Given the description of an element on the screen output the (x, y) to click on. 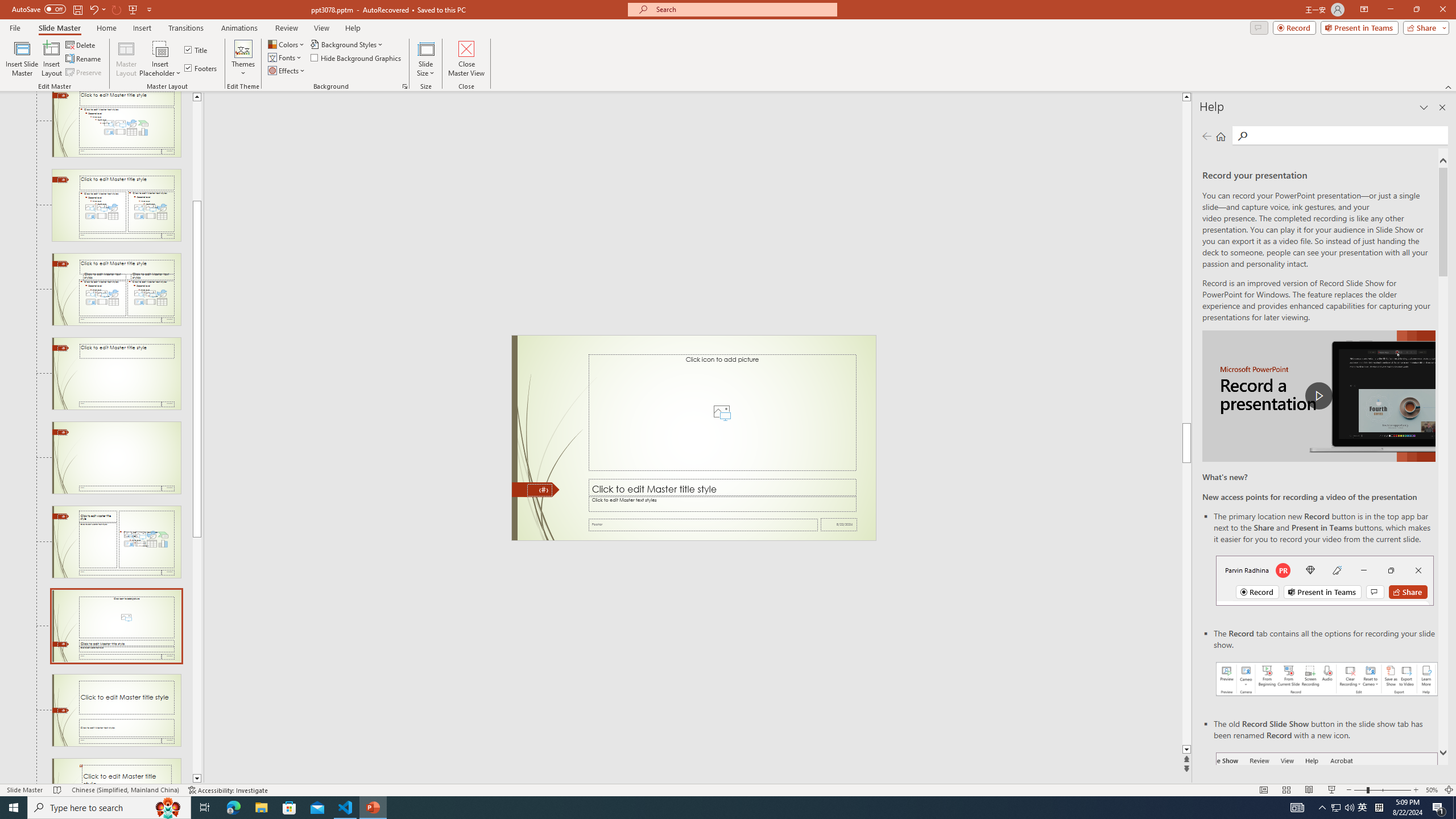
Slide Picture with Caption Layout: used by no slides (116, 625)
Slide Title Only Layout: used by no slides (116, 373)
Slide Quote with Caption Layout: used by no slides (116, 770)
Slide Master (59, 28)
Background Styles (347, 44)
Footer (703, 524)
Date (839, 524)
